Given the description of an element on the screen output the (x, y) to click on. 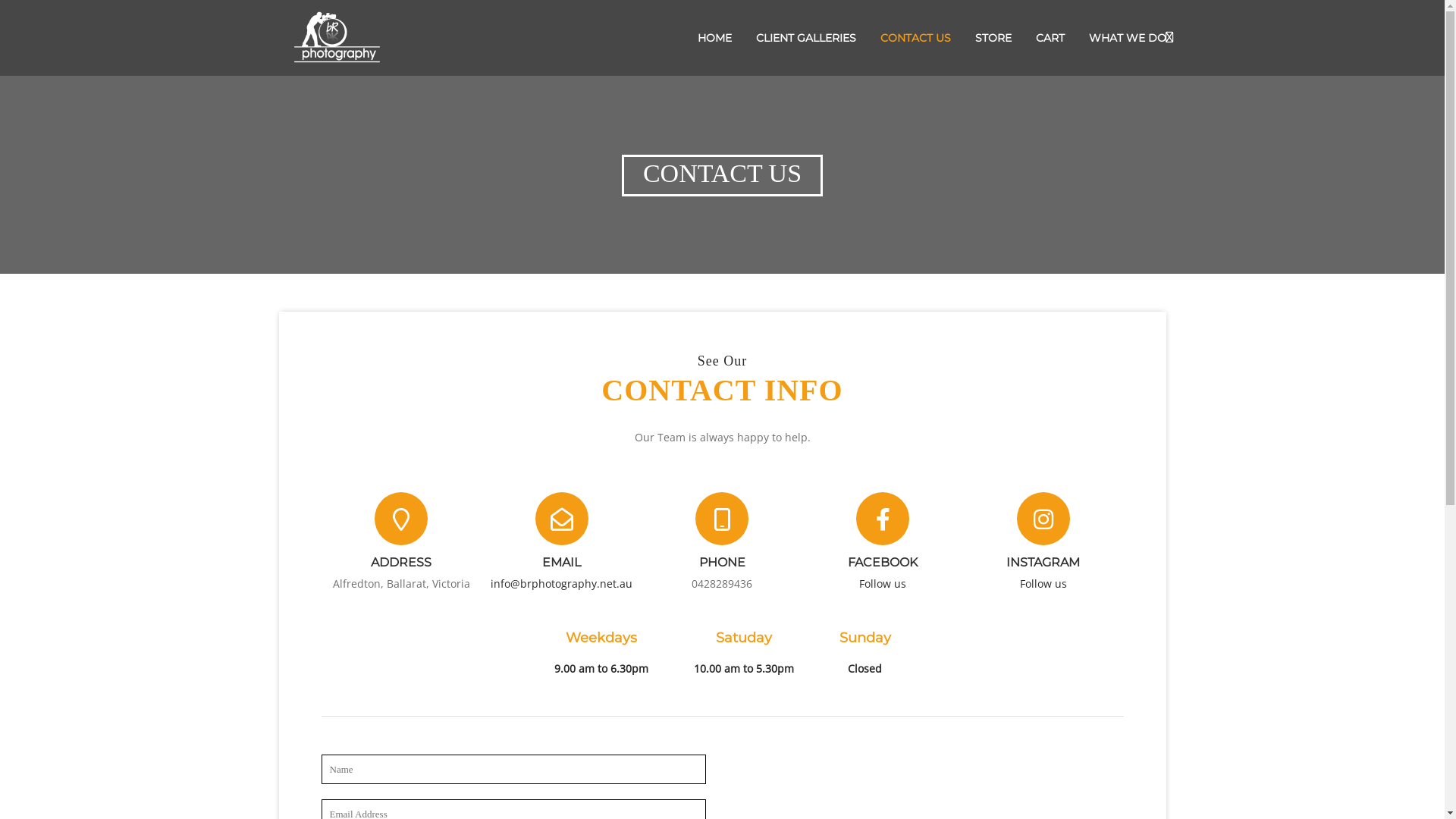
FACEBOOK
Follow us Element type: text (882, 542)
HOME Element type: text (714, 37)
INSTAGRAM
Follow us Element type: text (1043, 542)
info@brphotography.net.au Element type: text (561, 583)
WHAT WE DO Element type: text (1124, 37)
CONTACT US Element type: text (914, 37)
CART Element type: text (1049, 37)
CLIENT GALLERIES Element type: text (805, 37)
STORE Element type: text (993, 37)
